Given the description of an element on the screen output the (x, y) to click on. 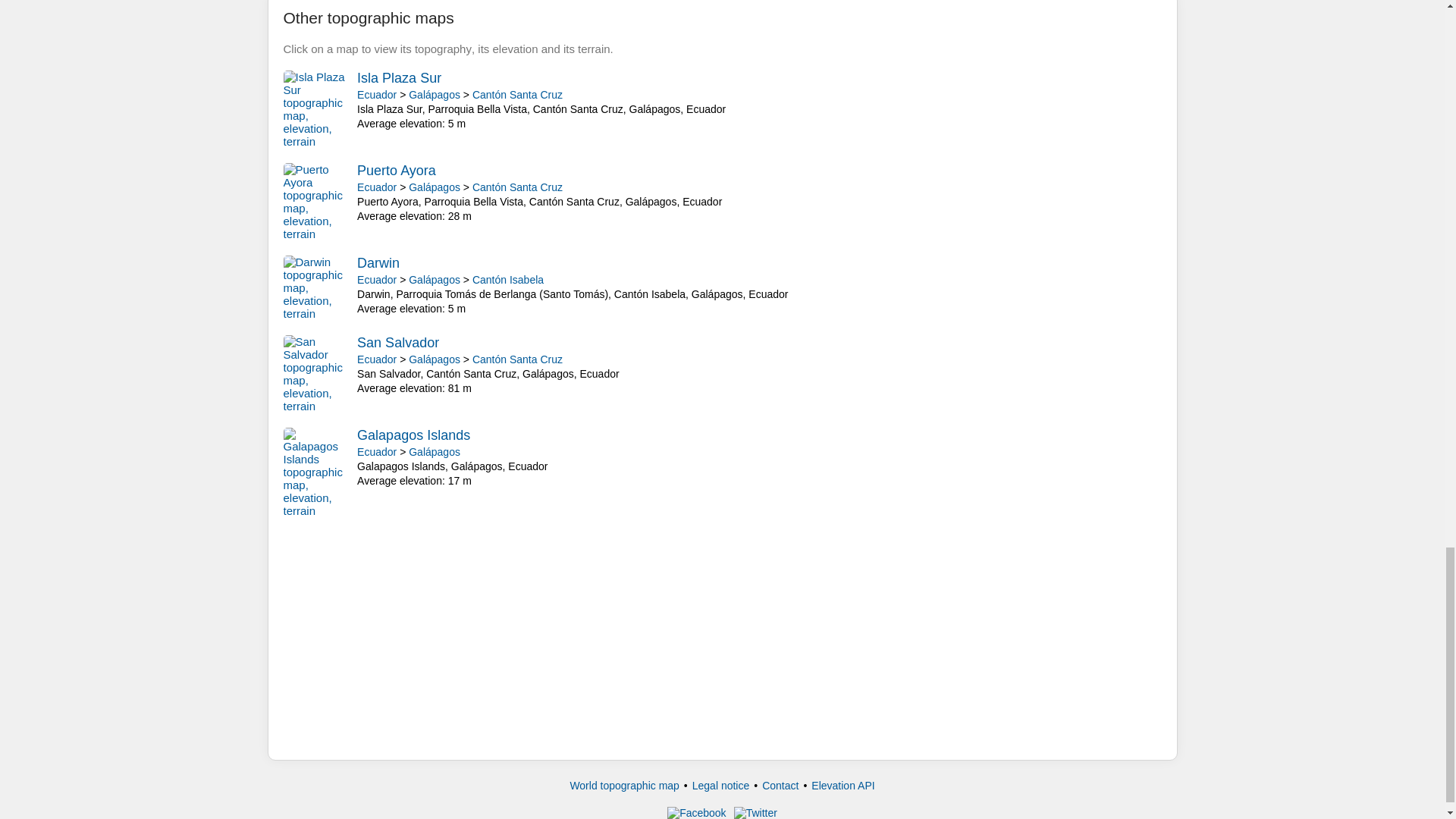
Ecuador (376, 279)
Ecuador (376, 451)
Galapagos Islands (413, 435)
Easily get elevation data in JSON, GeoTIFF and KML formats (842, 785)
Ecuador (376, 94)
Darwin (377, 263)
Ecuador (376, 186)
Puerto Ayora (395, 170)
World topographic map (623, 785)
Darwin topographic map, elevation, terrain (316, 287)
